Given the description of an element on the screen output the (x, y) to click on. 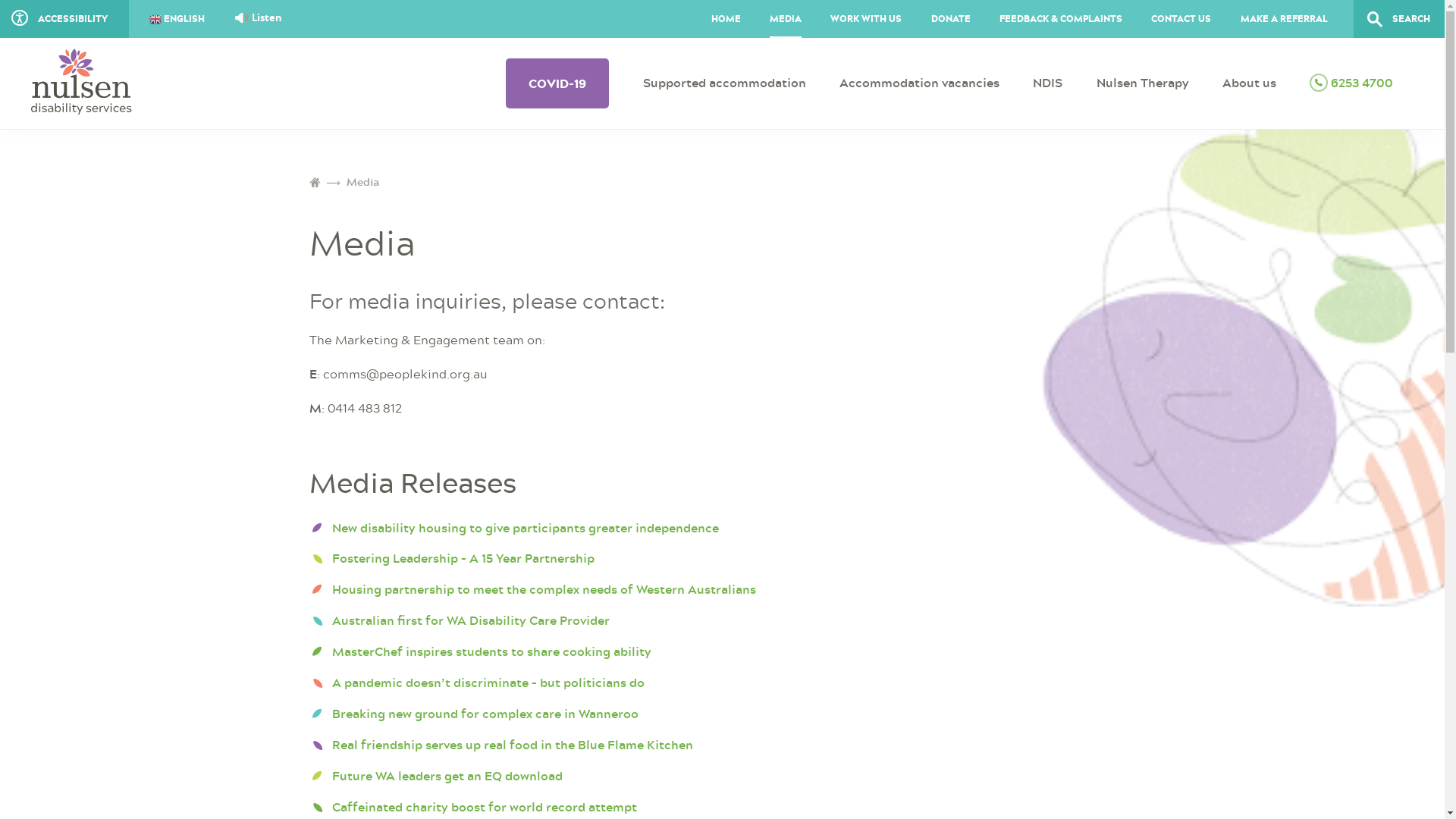
Breaking new ground for complex care in Wanneroo Element type: text (485, 713)
MEDIA Element type: text (785, 18)
Future WA leaders get an EQ download Element type: text (447, 775)
HOME Element type: text (725, 18)
WORK WITH US Element type: text (865, 18)
MasterChef inspires students to share cooking ability Element type: text (491, 651)
SEARCH Element type: text (1398, 18)
Nulsen Therapy Element type: text (1142, 82)
CONTACT US Element type: text (1180, 18)
DONATE Element type: text (950, 18)
ACCESSIBILITY Element type: text (64, 18)
Caffeinated charity boost for world record attempt Element type: text (484, 806)
ENGLISH Element type: text (187, 19)
FEEDBACK & COMPLAINTS Element type: text (1060, 18)
COVID-19 Element type: text (557, 82)
Listen Element type: text (259, 17)
MAKE A REFERRAL Element type: text (1284, 18)
Accommodation vacancies Element type: text (919, 82)
Supported accommodation Element type: text (724, 82)
NDIS Element type: text (1047, 82)
Australian first for WA Disability Care Provider Element type: text (470, 620)
About us Element type: text (1249, 82)
6253 4700 Element type: text (1351, 82)
